Given the description of an element on the screen output the (x, y) to click on. 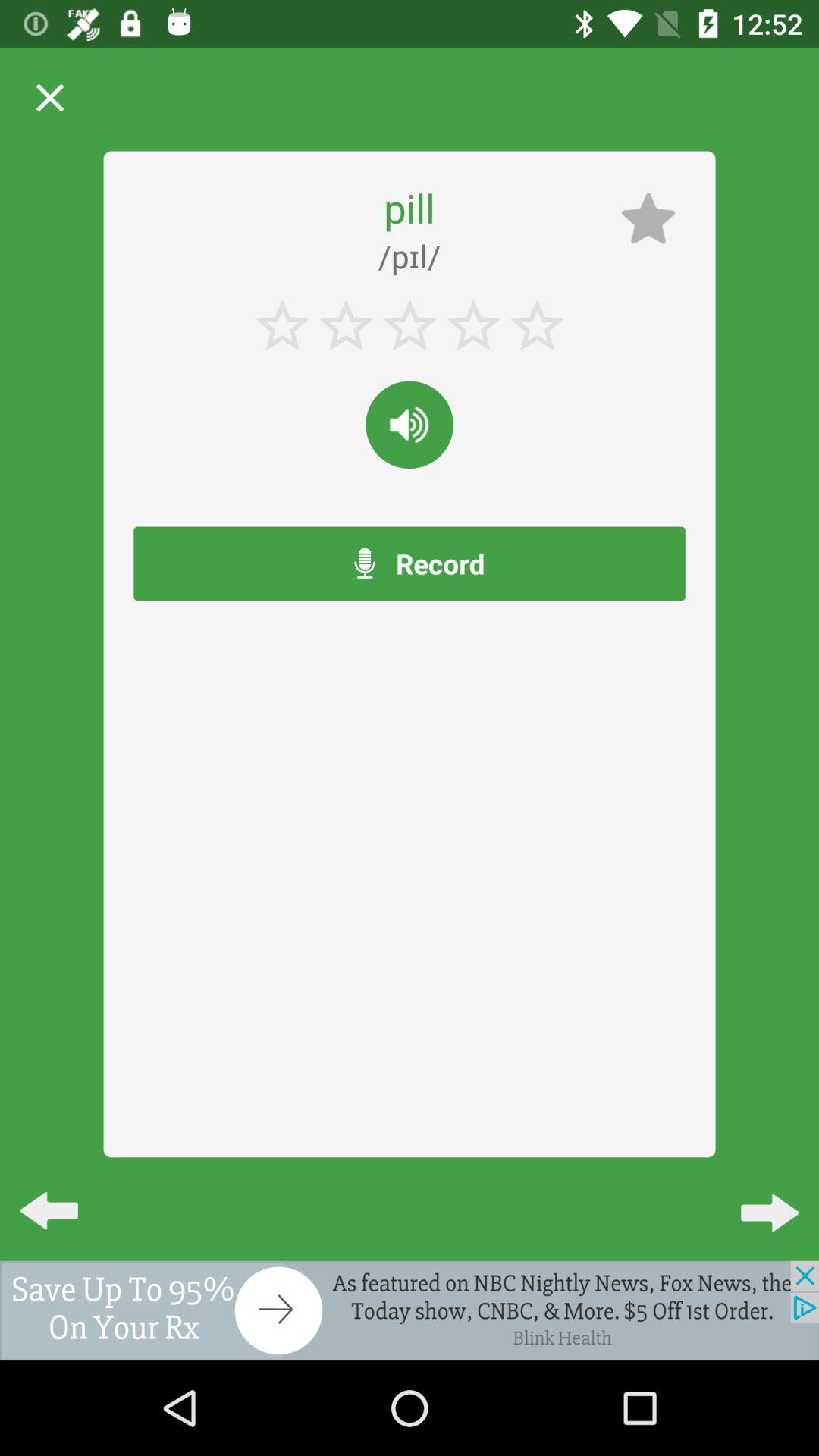
starts recording (409, 424)
